Given the description of an element on the screen output the (x, y) to click on. 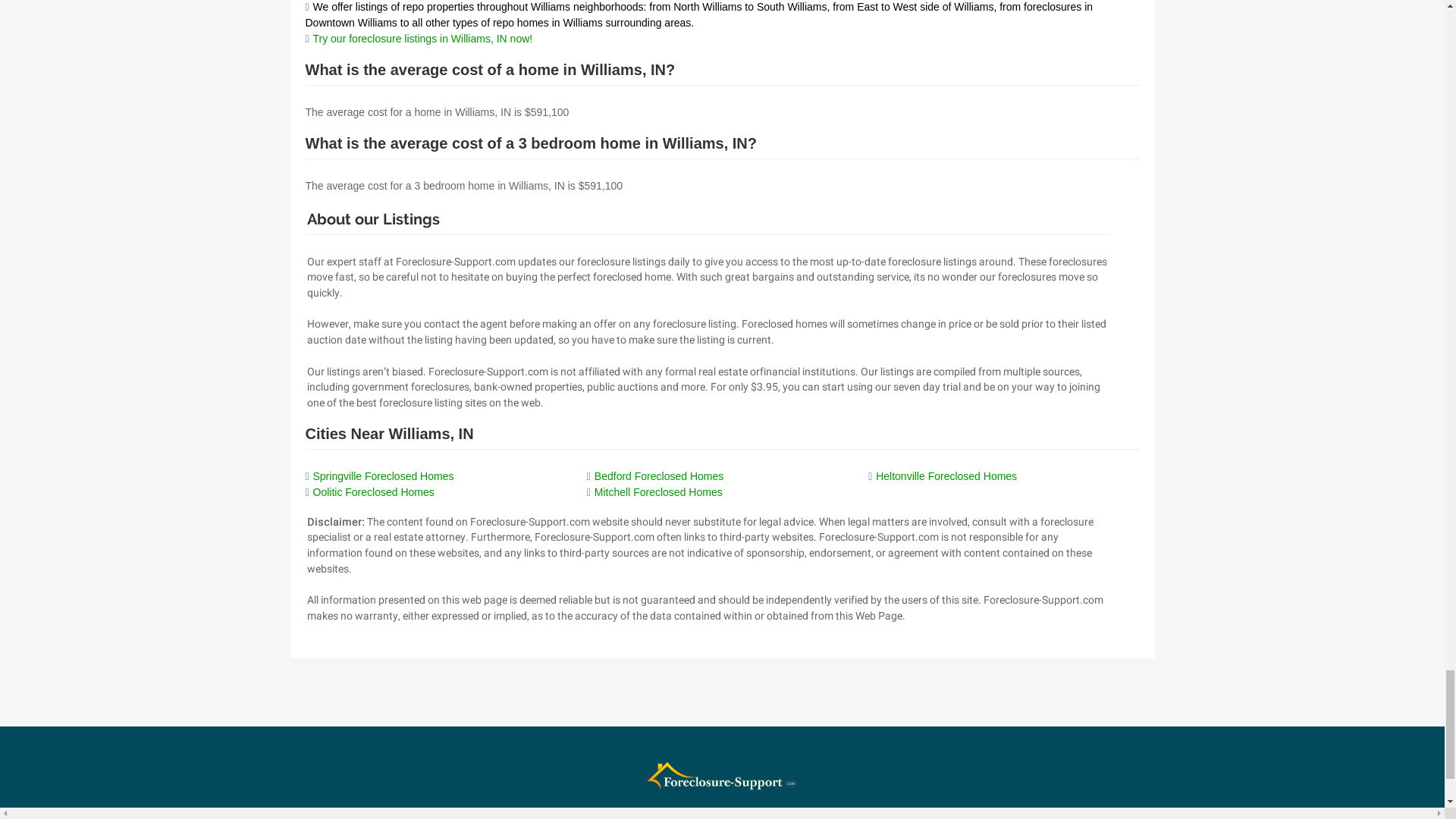
Oolitic (373, 491)
Heltonville (946, 476)
Mitchell (658, 491)
Bedford (658, 476)
Springville (382, 476)
